Given the description of an element on the screen output the (x, y) to click on. 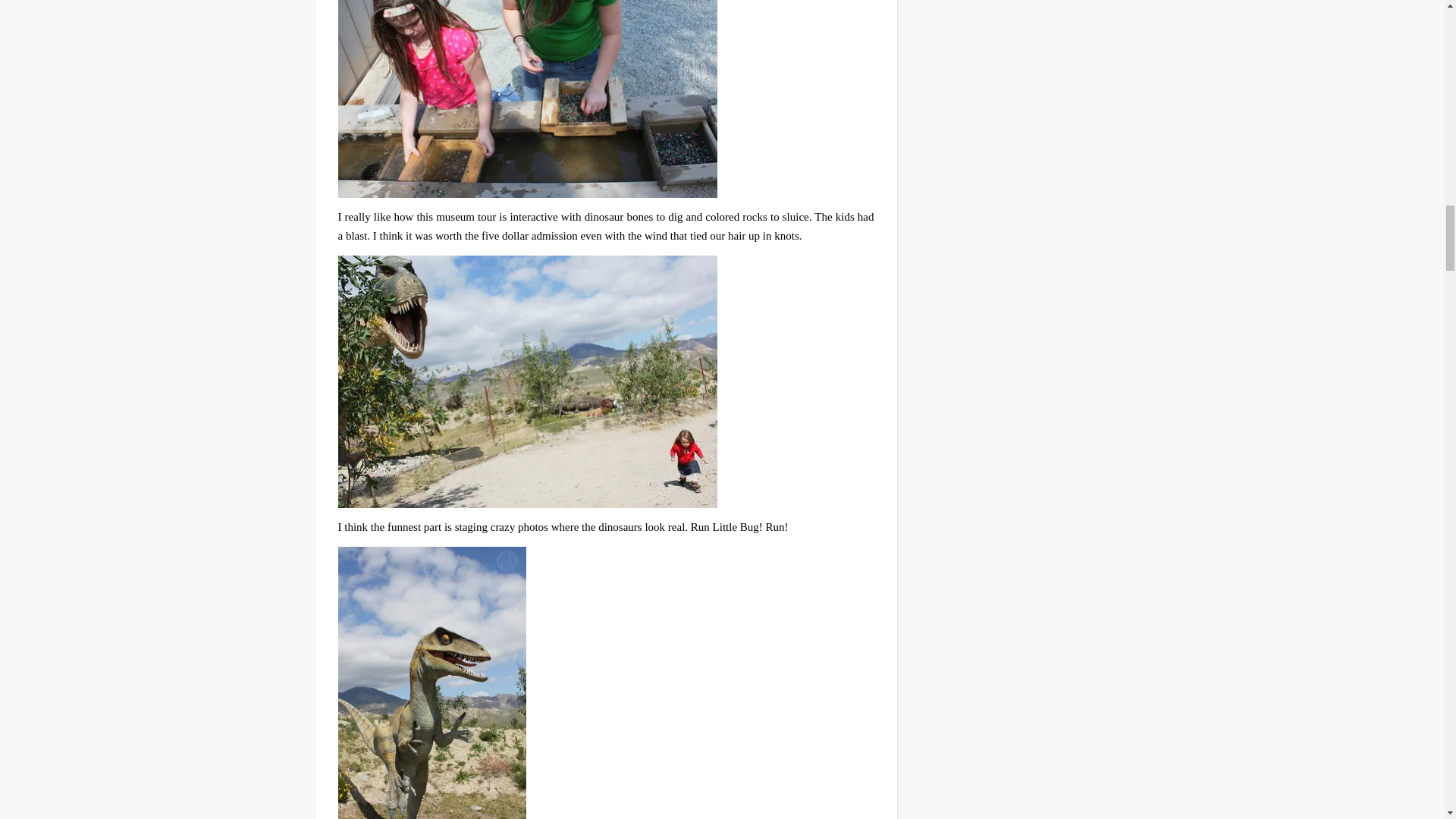
slucing by secret agent josephine, on Flickr (606, 99)
